Given the description of an element on the screen output the (x, y) to click on. 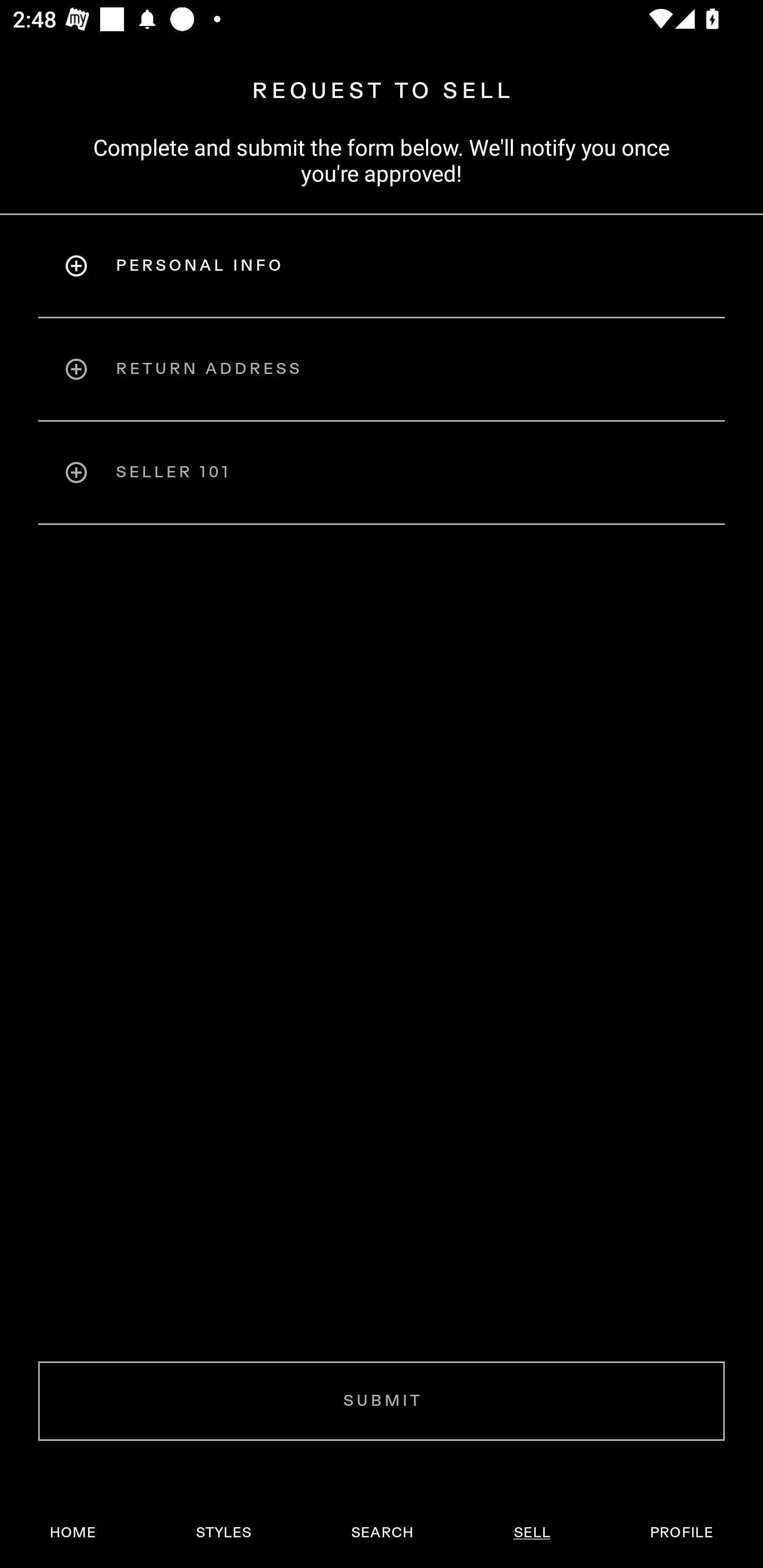
PERSONAL INFO (381, 265)
RETURN ADDRESS (381, 369)
SELLER 101 (381, 472)
SUBMIT (381, 1400)
HOME (72, 1532)
STYLES (222, 1532)
SEARCH (381, 1532)
SELL (531, 1532)
PROFILE (681, 1532)
